Given the description of an element on the screen output the (x, y) to click on. 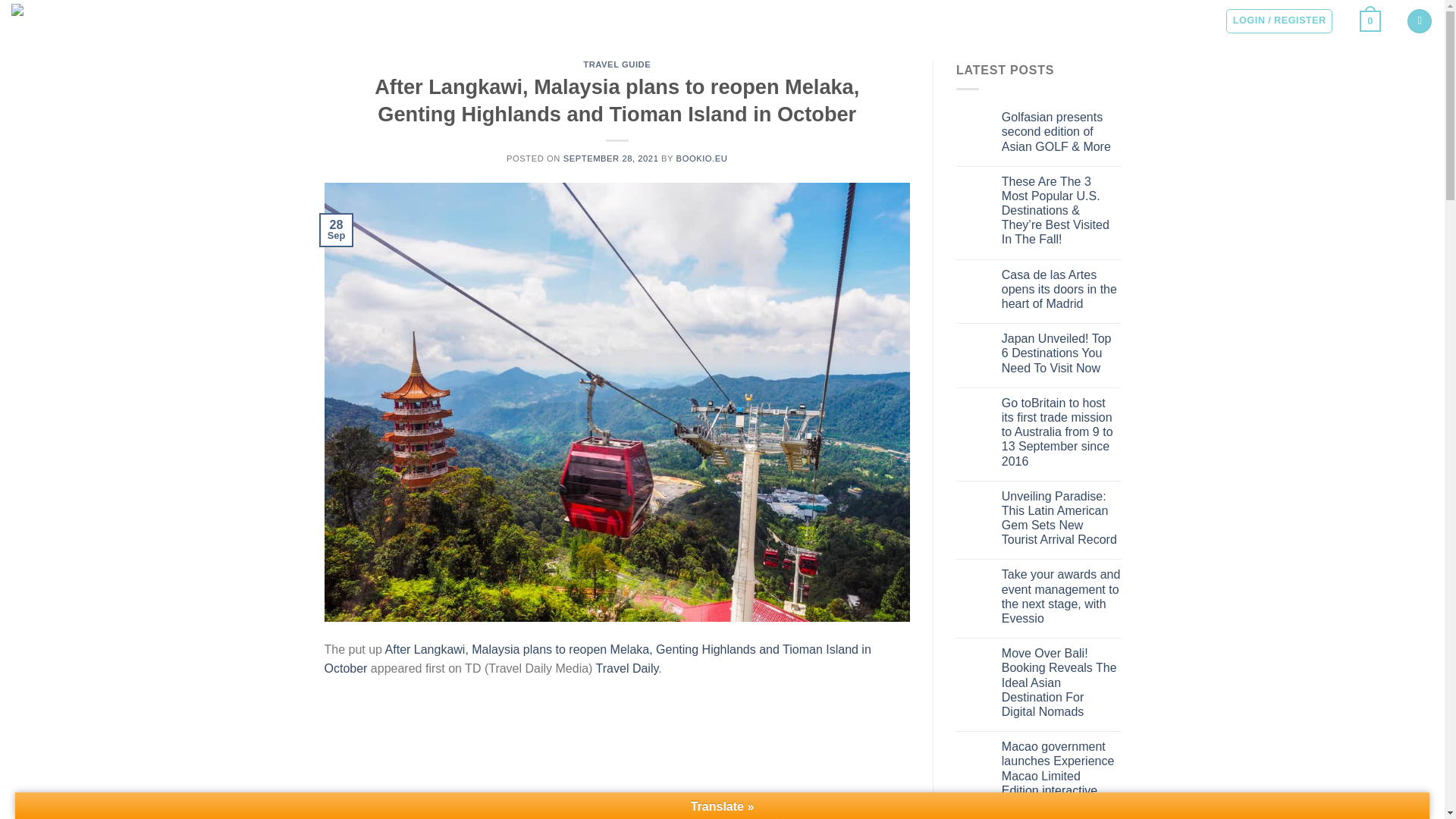
FLIGHTS (250, 18)
BLOG (488, 18)
Bookio.eu - Get Deals on flights and hotels (87, 19)
HOTELS (305, 18)
SEPTEMBER 28, 2021 (611, 157)
TRAVEL SHOP (425, 18)
HOME (200, 18)
MORE (358, 18)
BOOKIO.EU (702, 157)
Travel Daily (627, 667)
